Given the description of an element on the screen output the (x, y) to click on. 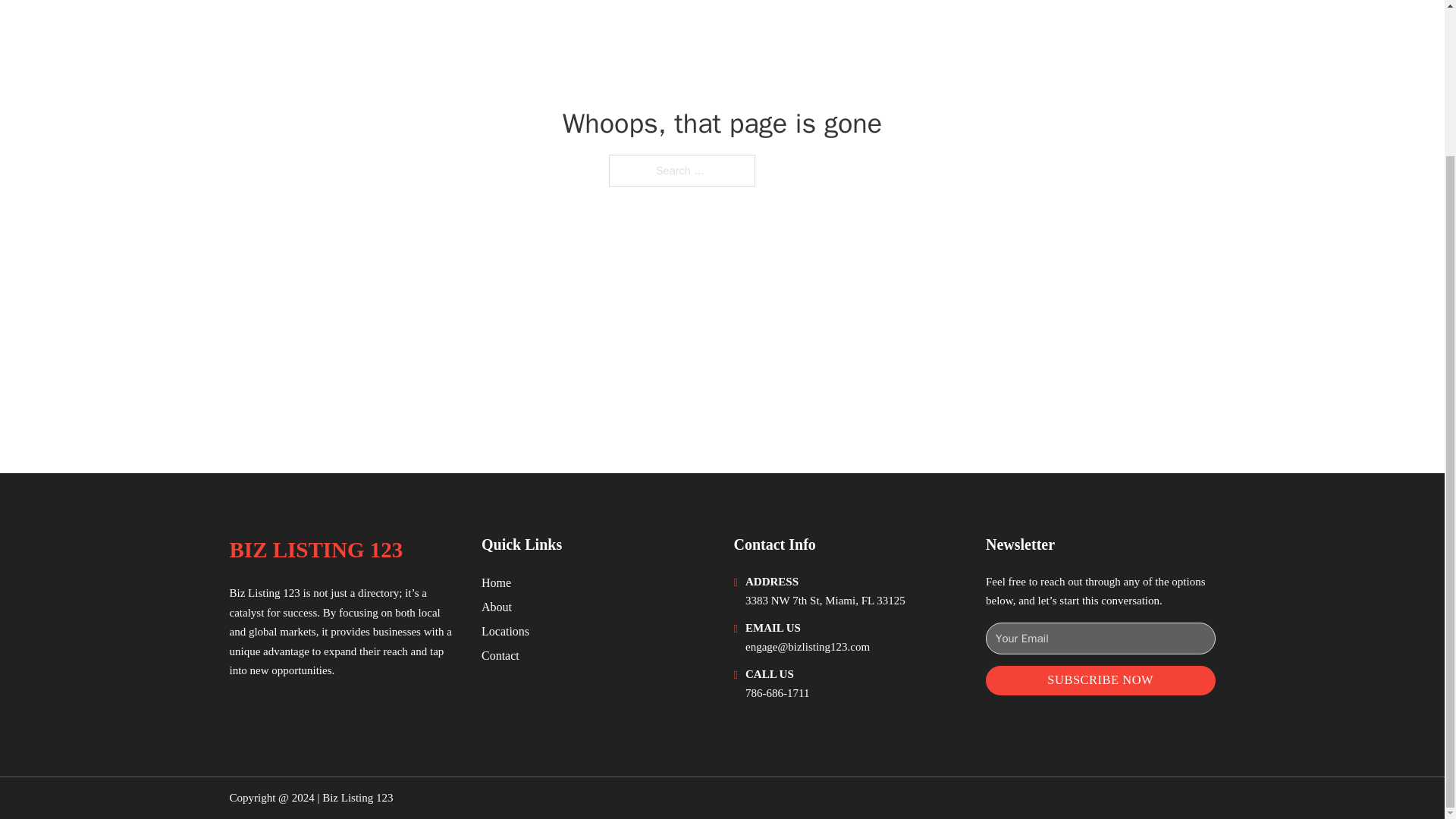
BIZ LISTING 123 (315, 549)
Home (496, 582)
About (496, 607)
SUBSCRIBE NOW (1100, 680)
786-686-1711 (777, 693)
Locations (505, 630)
Contact (500, 655)
